Given the description of an element on the screen output the (x, y) to click on. 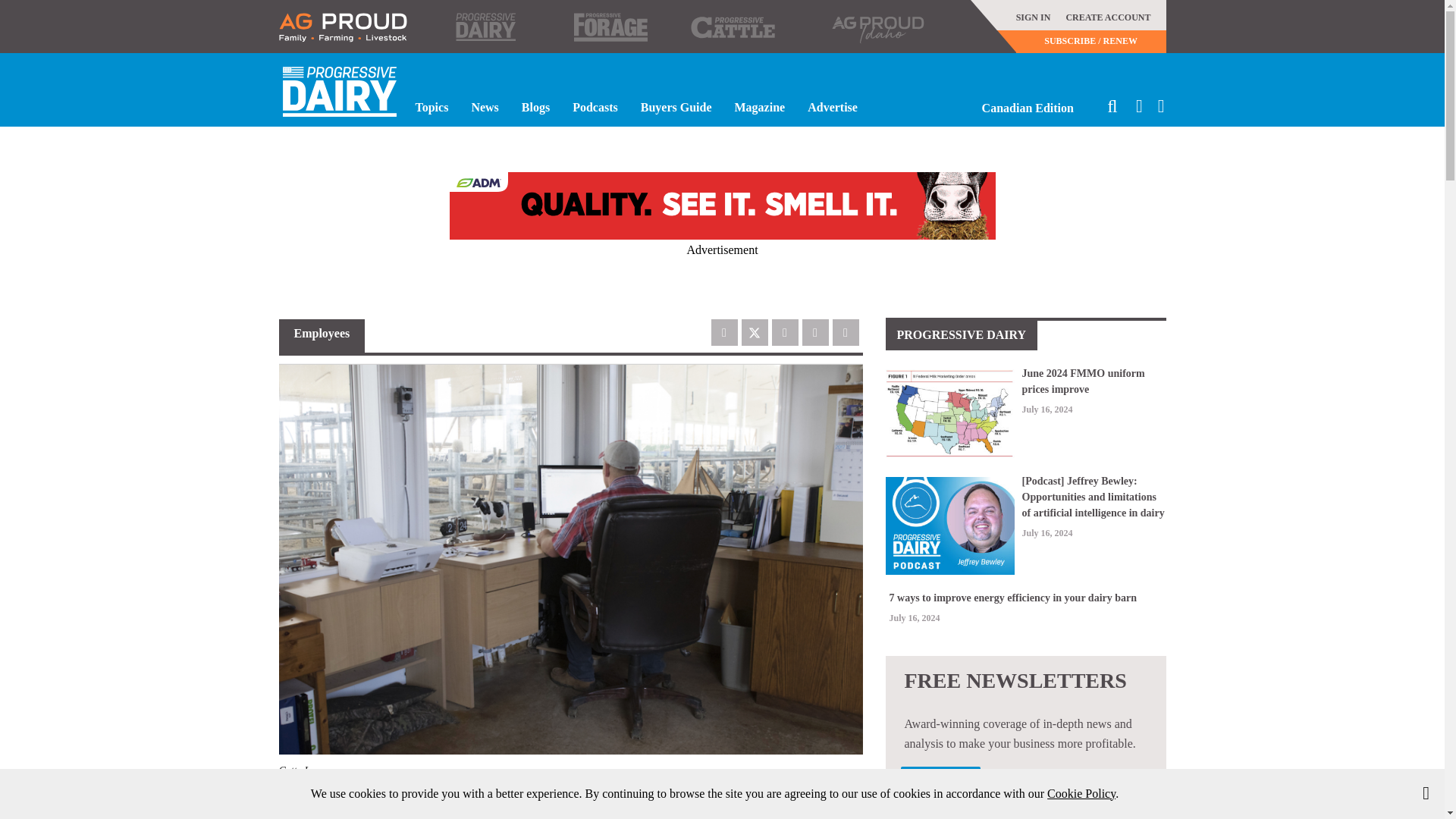
071624-PD-Podcast-preview-image.jpg (949, 525)
56065-natzke-fmmo-map.jpg (949, 413)
